Given the description of an element on the screen output the (x, y) to click on. 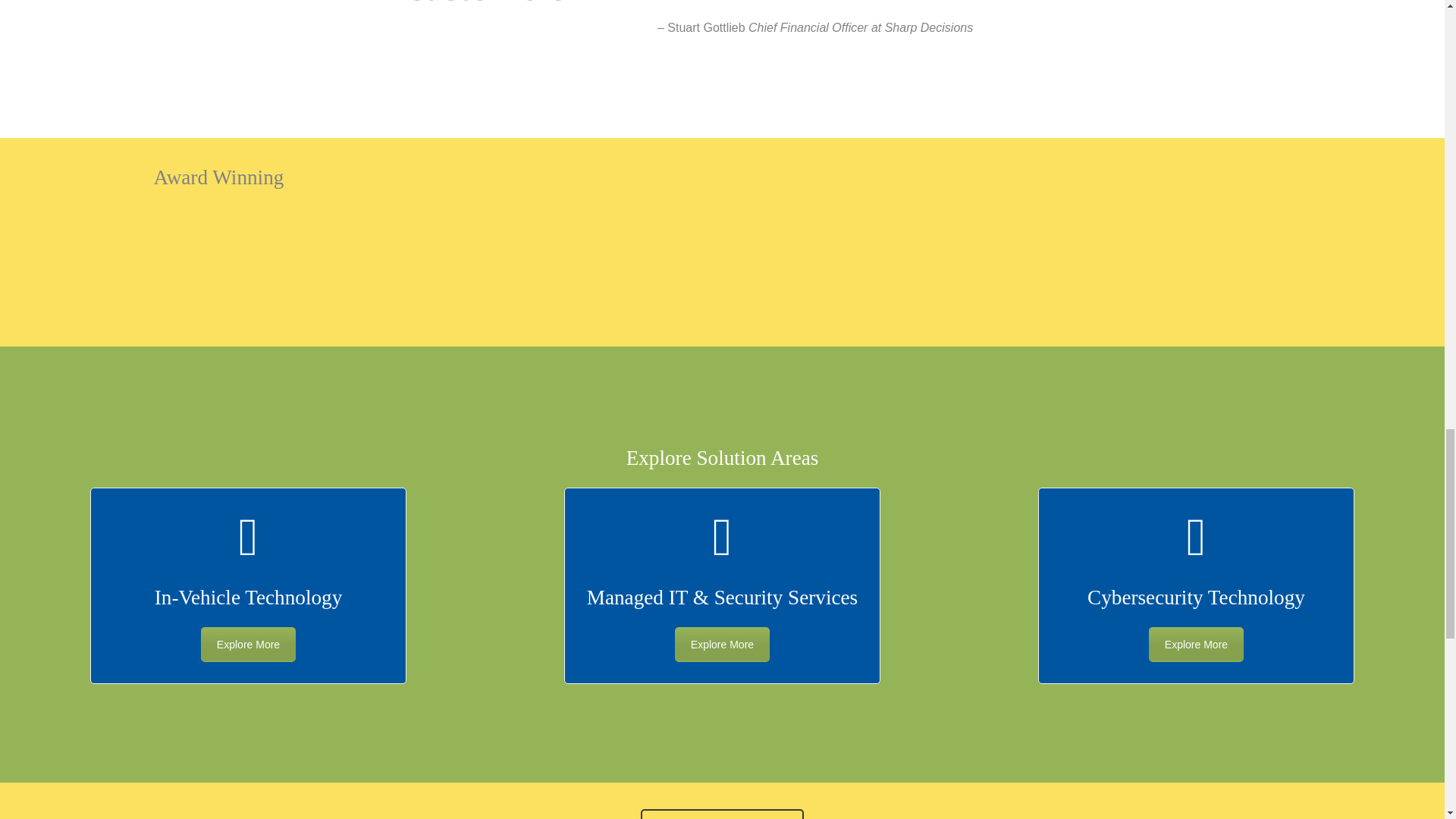
Managed Services (722, 644)
Inc 5000 2021 (349, 263)
Managed Services (1195, 644)
Police Technology (247, 644)
Contact Us (722, 814)
Rochester Top 100 2022 (596, 263)
